Given the description of an element on the screen output the (x, y) to click on. 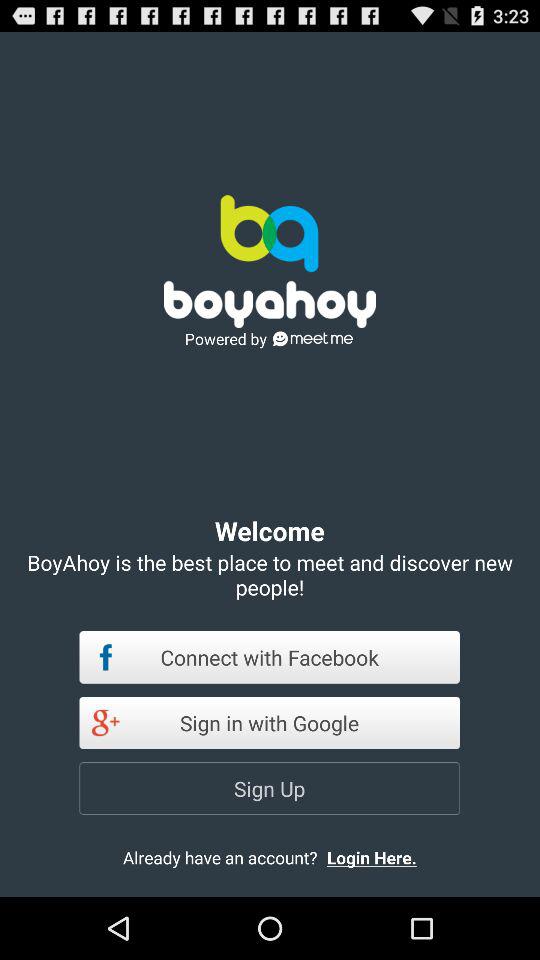
open sign in with item (269, 722)
